Given the description of an element on the screen output the (x, y) to click on. 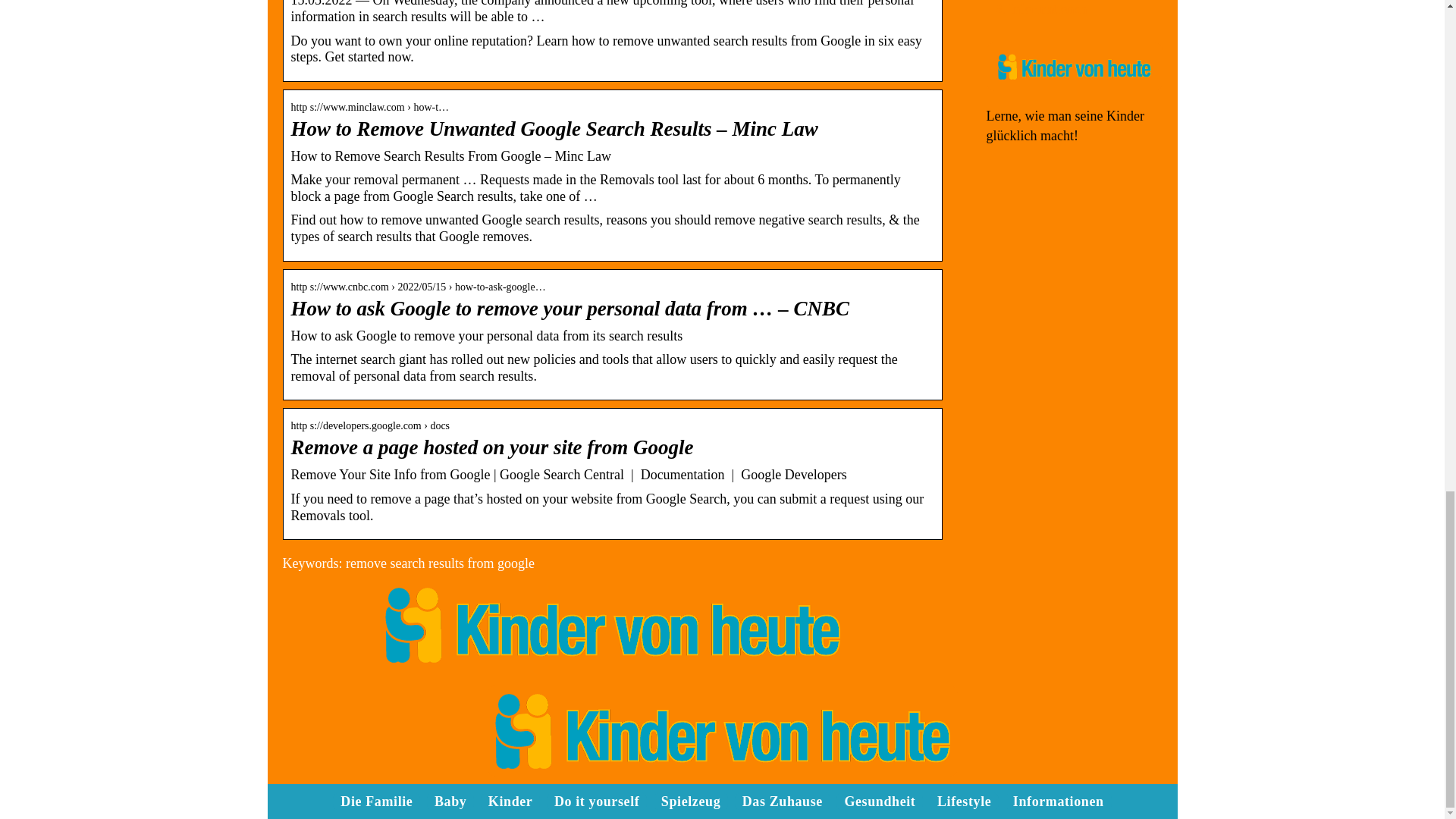
Das Zuhause (782, 801)
Baby (449, 801)
Informationen (1047, 8)
Gesundheit (879, 801)
Kinder (509, 801)
Do it yourself (596, 801)
Die Familie (376, 801)
Spielzeug (690, 801)
